Given the description of an element on the screen output the (x, y) to click on. 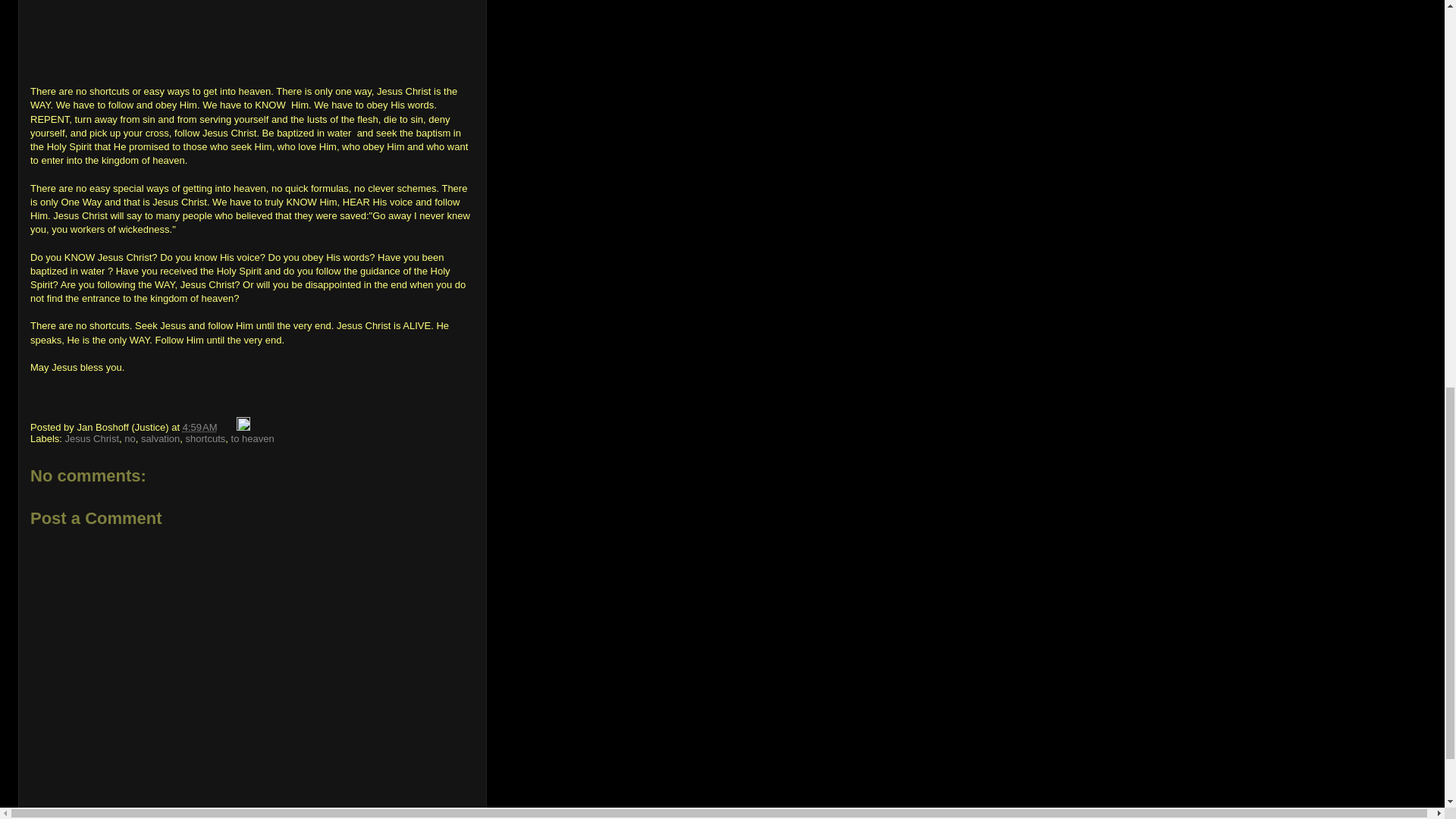
Edit Post (242, 427)
no (129, 438)
salvation (160, 438)
Jesus Christ (92, 438)
shortcuts (205, 438)
to heaven (253, 438)
permanent link (199, 427)
Email Post (227, 427)
